Given the description of an element on the screen output the (x, y) to click on. 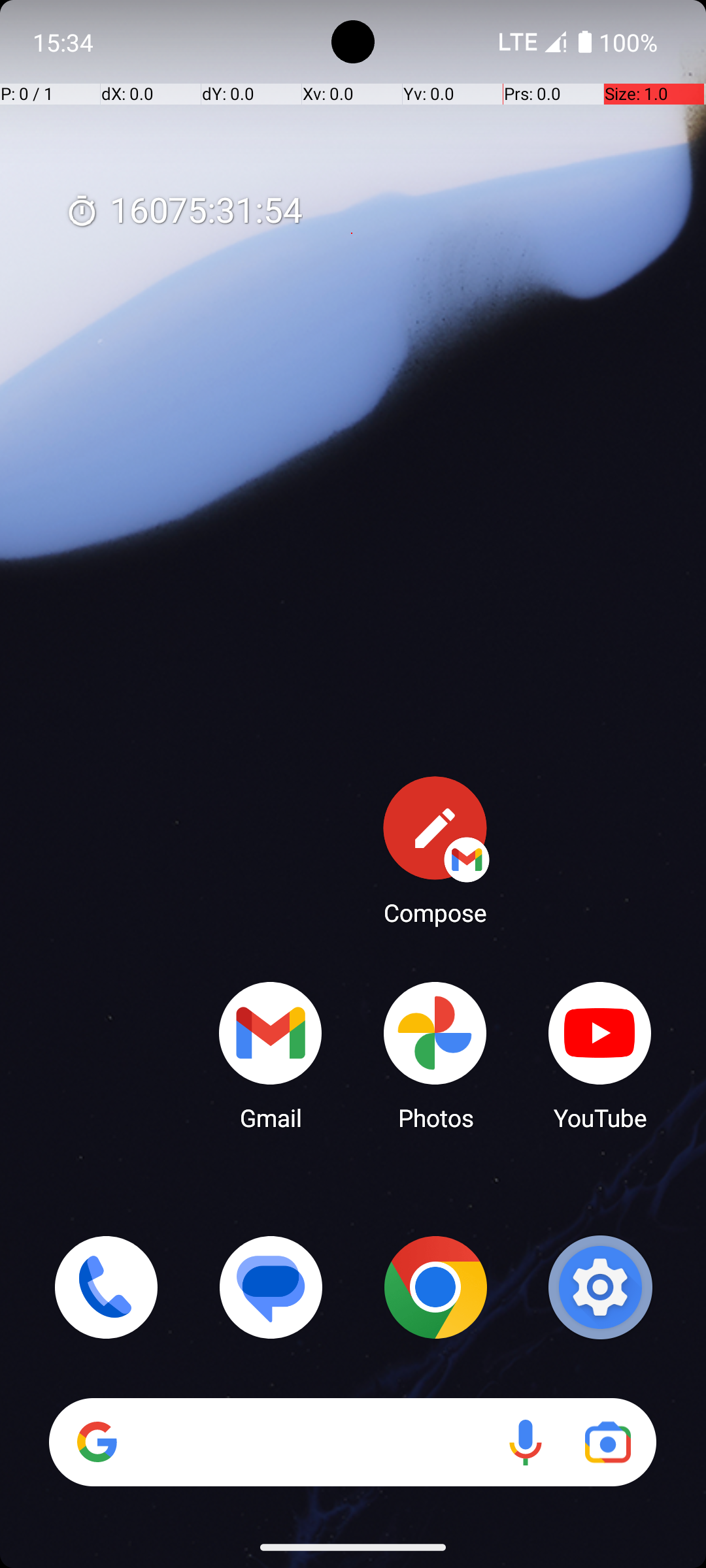
16075:31:54 Element type: android.widget.TextView (183, 210)
